Given the description of an element on the screen output the (x, y) to click on. 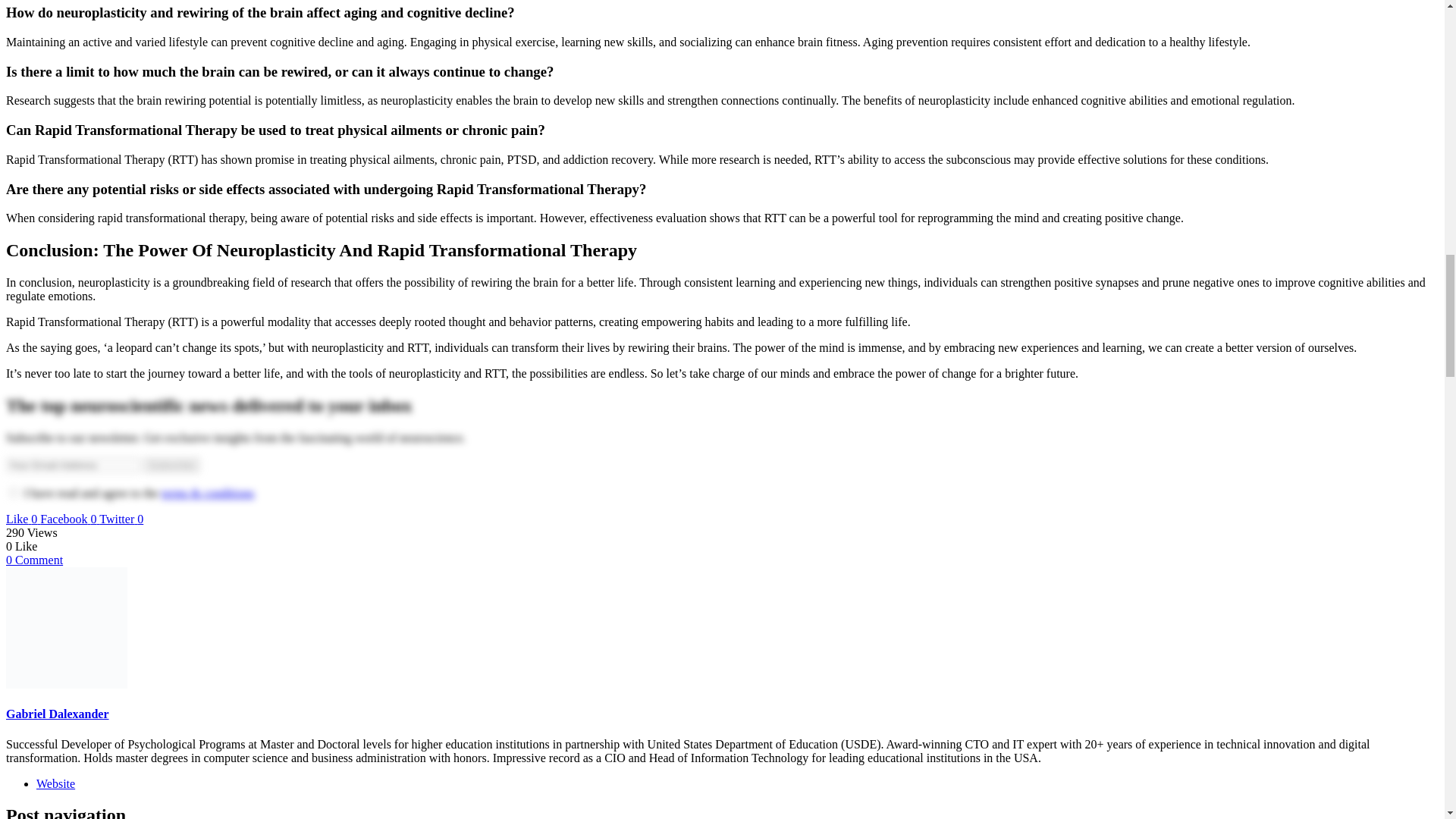
Twitter (120, 518)
1 (13, 492)
Like (22, 518)
Facebook (69, 518)
Website (55, 782)
Subscribe (171, 465)
